Given the description of an element on the screen output the (x, y) to click on. 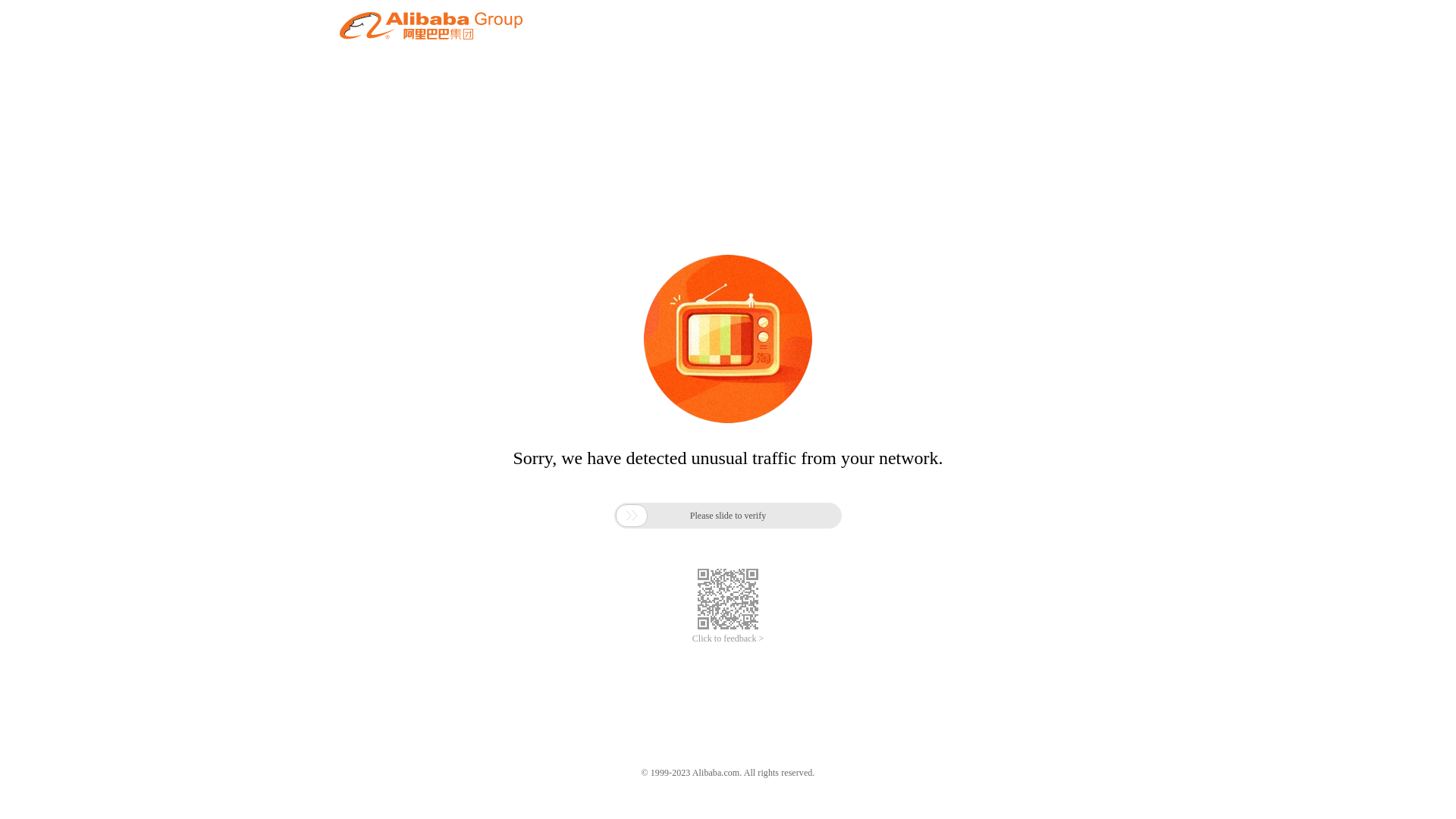
Click to feedback > Element type: text (727, 638)
